Given the description of an element on the screen output the (x, y) to click on. 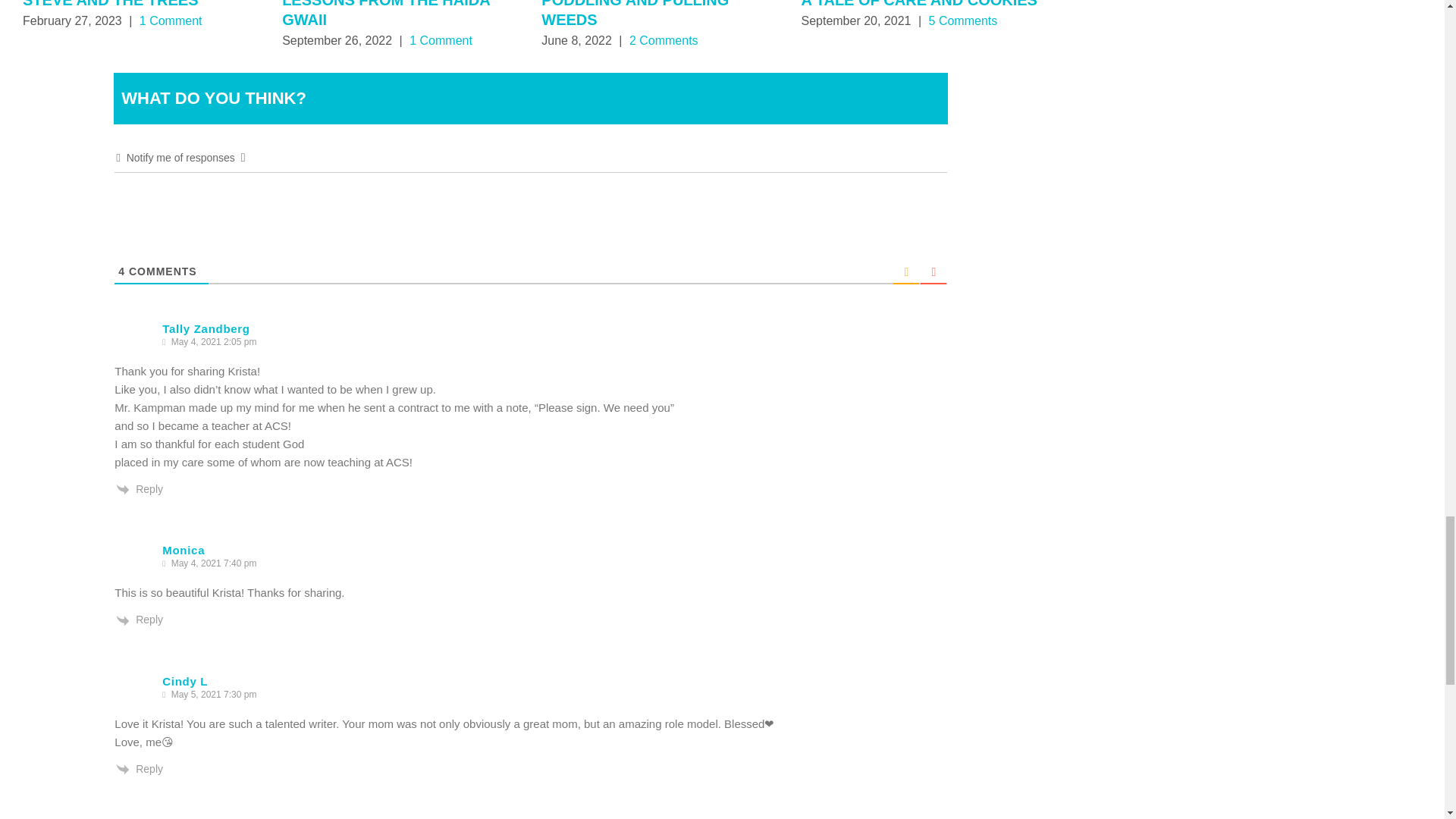
LESSONS FROM THE HAIDA GWAII (385, 13)
STEVE AND THE TREES (110, 4)
PODDLING AND PULLING WEEDS (635, 13)
